Given the description of an element on the screen output the (x, y) to click on. 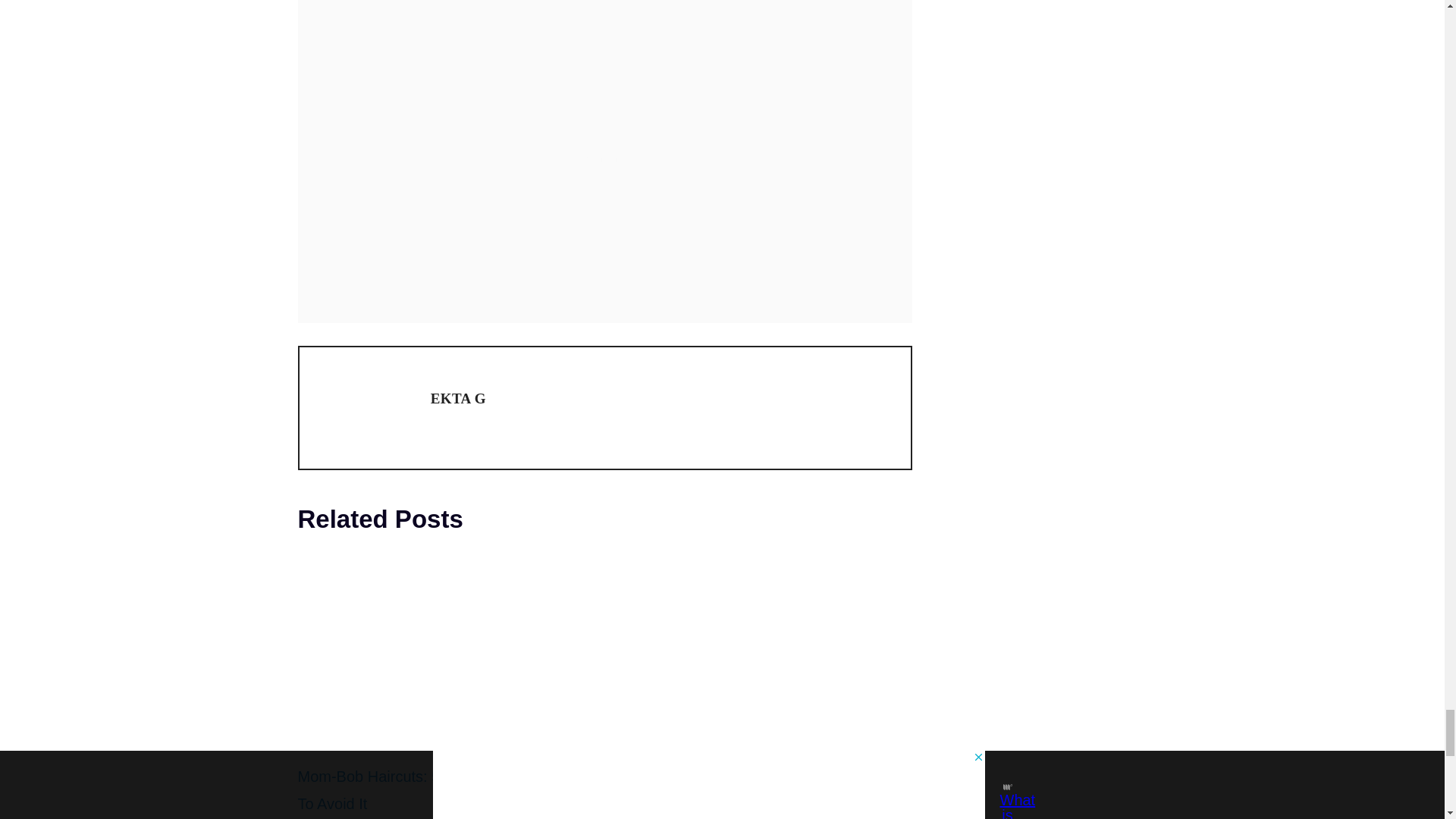
Mom-Bob Haircuts: 5 Must-Read Reasons To Avoid It (443, 733)
How to Grow Out a Pixie Cut into a Bob (766, 733)
EKTA G (458, 398)
Mom-Bob Haircuts: 5 Must-Read Reasons To Avoid It (439, 790)
How to Grow Out a Pixie Cut into a Bob (753, 776)
